Given the description of an element on the screen output the (x, y) to click on. 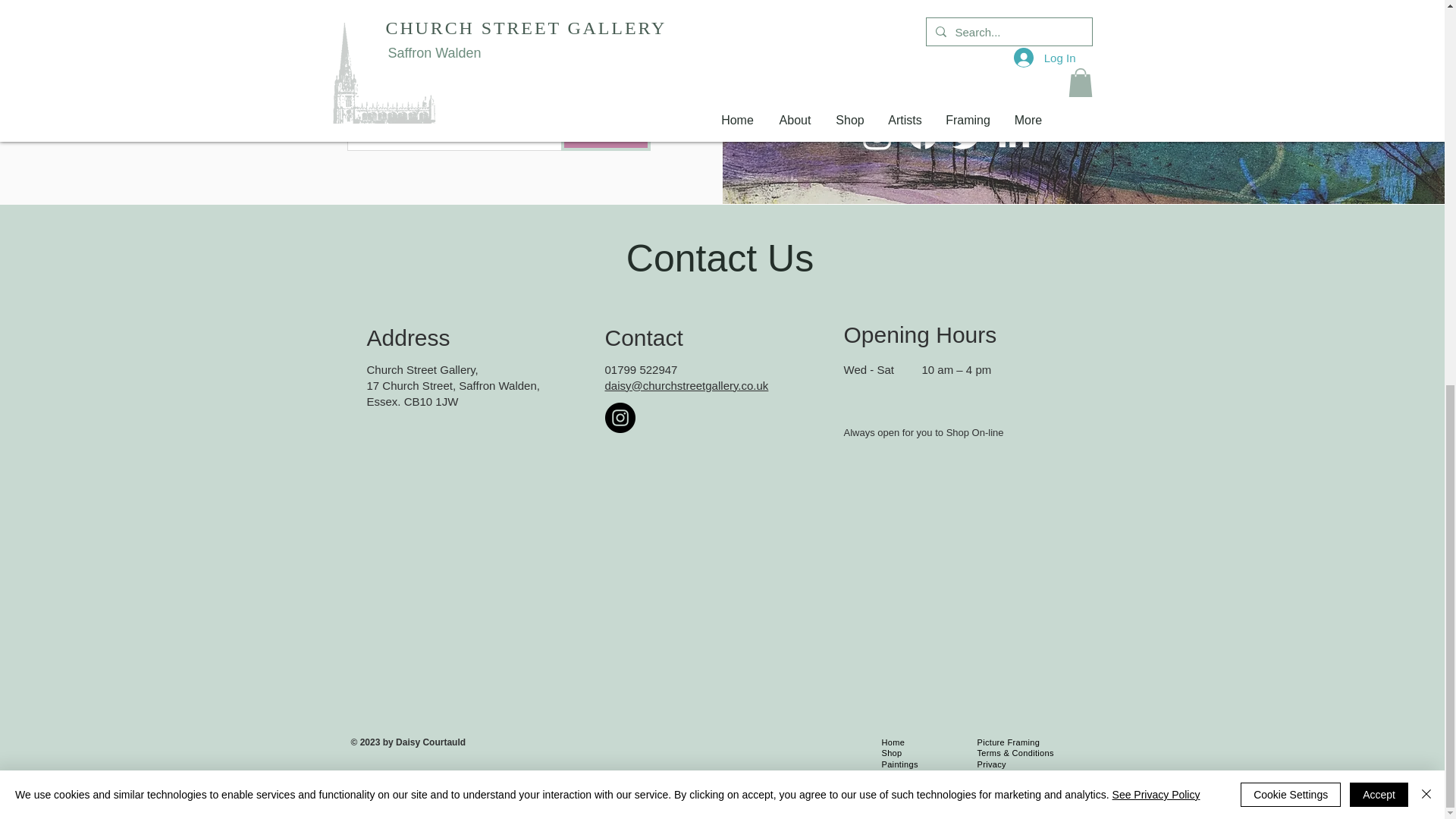
Ceramics (899, 786)
Pottery (894, 798)
Original Prints (908, 775)
Shop  (892, 752)
Sign Up (605, 133)
